Given the description of an element on the screen output the (x, y) to click on. 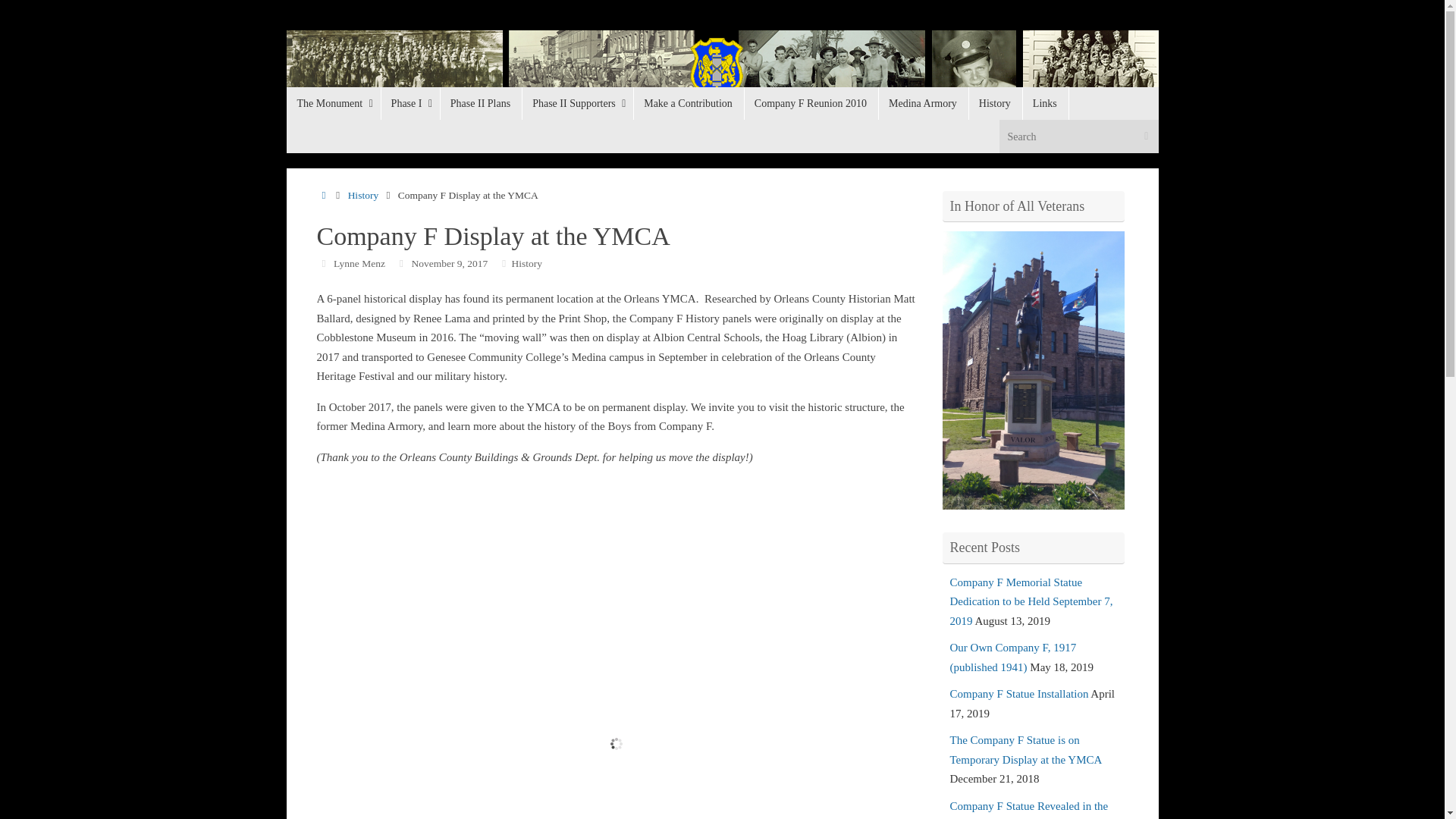
Phase I (409, 102)
View all posts by Lynne Menz (359, 263)
History (995, 102)
History (362, 194)
Phase II Plans (480, 102)
History (527, 263)
Company F Statue Installation (1018, 693)
Make a Contribution (688, 102)
Date (401, 263)
Medina Armory (922, 102)
